Given the description of an element on the screen output the (x, y) to click on. 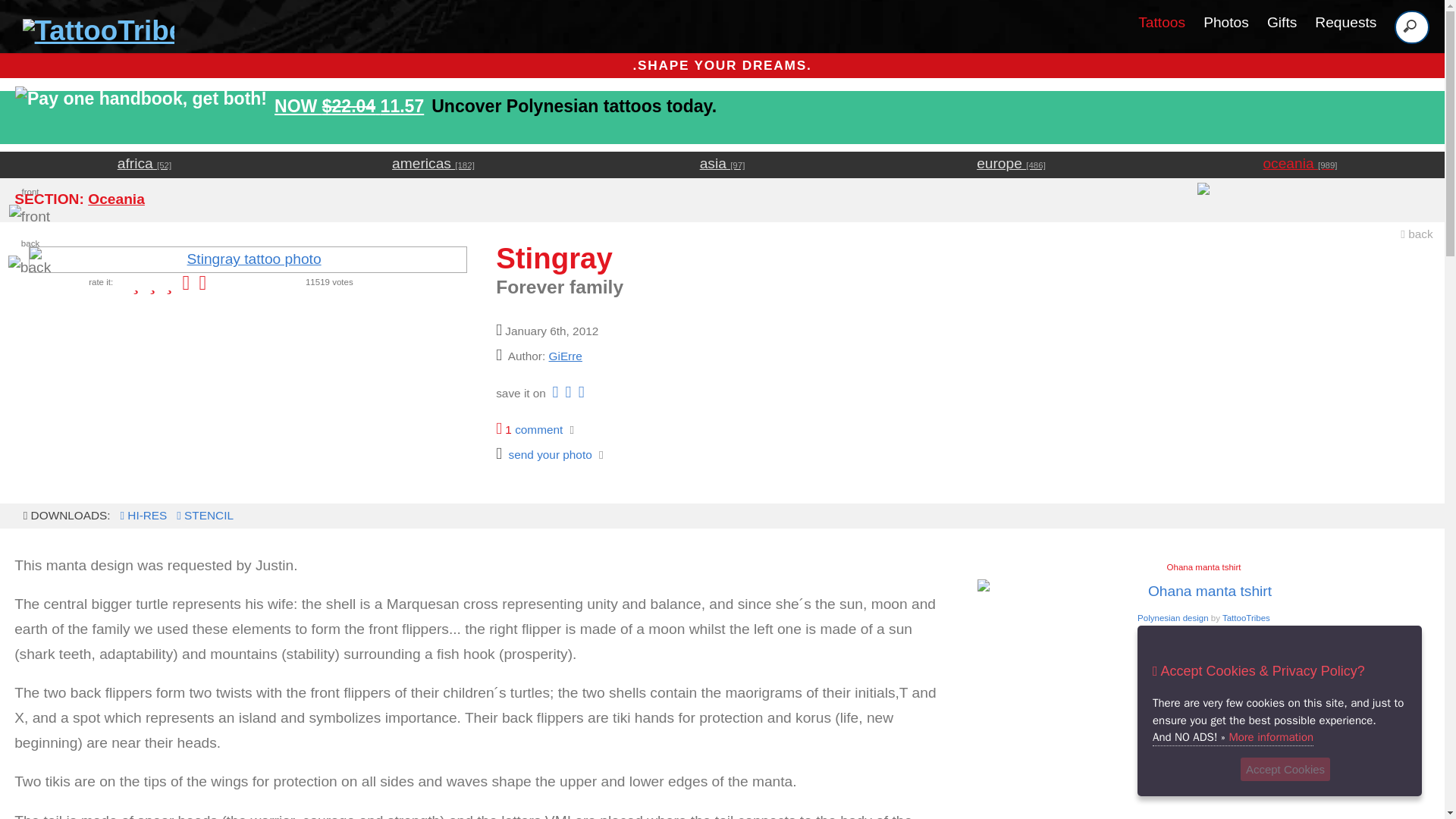
Home (94, 30)
 1 comment (529, 429)
Oceania (115, 198)
GiErre (565, 355)
VMI family stingray tattoo stencil (202, 514)
VMI family stingray tattoo flash (141, 514)
Photos (1226, 22)
  HI-RES (141, 514)
Read the comments on this tattoo (529, 429)
Ohana manta tshirt (1202, 625)
Gifts (1281, 22)
Tattoos (1161, 22)
  send your photo (544, 454)
Requests (1202, 625)
